Given the description of an element on the screen output the (x, y) to click on. 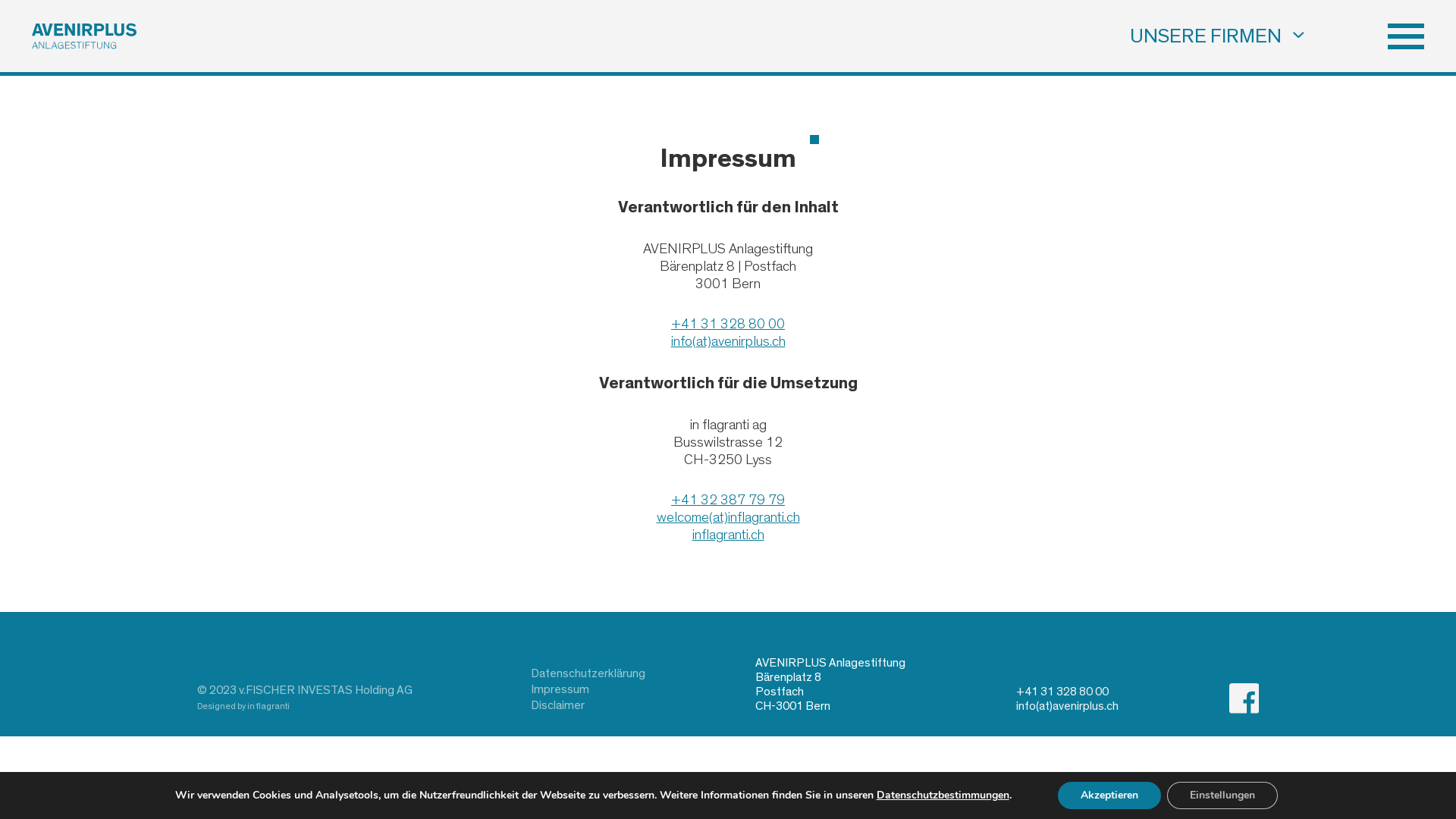
+41 31 328 80 00 Element type: text (1062, 691)
+41 31 328 80 00 Element type: text (727, 323)
(at) Element type: text (700, 341)
avenirplus.ch Element type: text (748, 341)
welcome Element type: text (682, 517)
Disclaimer Element type: text (587, 705)
info Element type: text (680, 341)
+41 32 387 79 79 Element type: text (727, 499)
inflagranti.ch Element type: text (764, 517)
info(at)avenirplus.ch Element type: text (1067, 705)
Datenschutzbestimmungen Element type: text (942, 794)
inflagranti.ch Element type: text (727, 534)
(at) Element type: text (717, 517)
Impressum Element type: text (587, 689)
Einstellungen Element type: text (1222, 795)
Akzeptieren Element type: text (1109, 795)
